Given the description of an element on the screen output the (x, y) to click on. 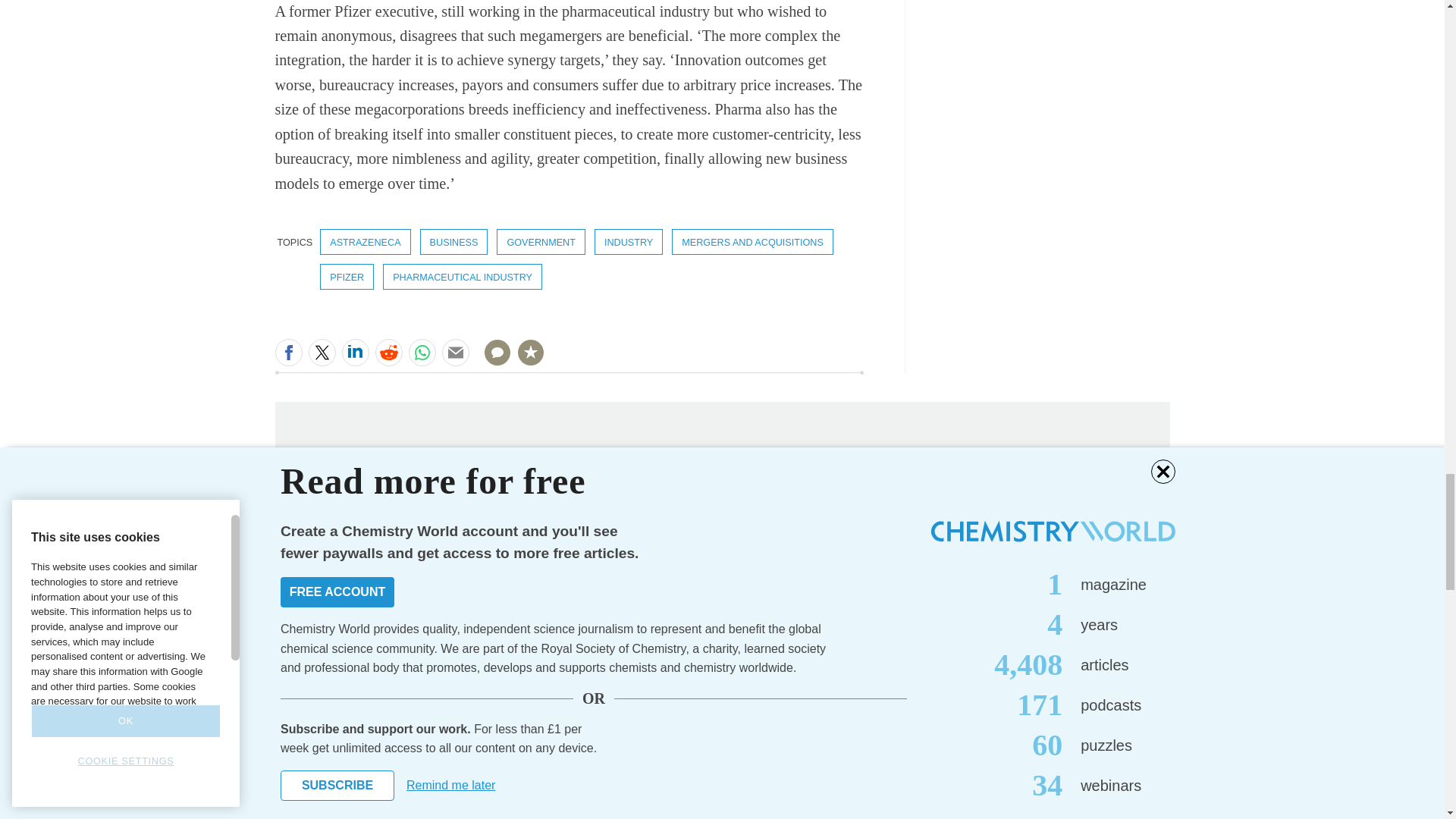
Share this on WhatsApp (421, 352)
NO COMMENTS (492, 361)
Share this on LinkedIn (354, 352)
Share this on Facebook (288, 352)
Share this on Reddit (387, 352)
Share this by email (454, 352)
